Given the description of an element on the screen output the (x, y) to click on. 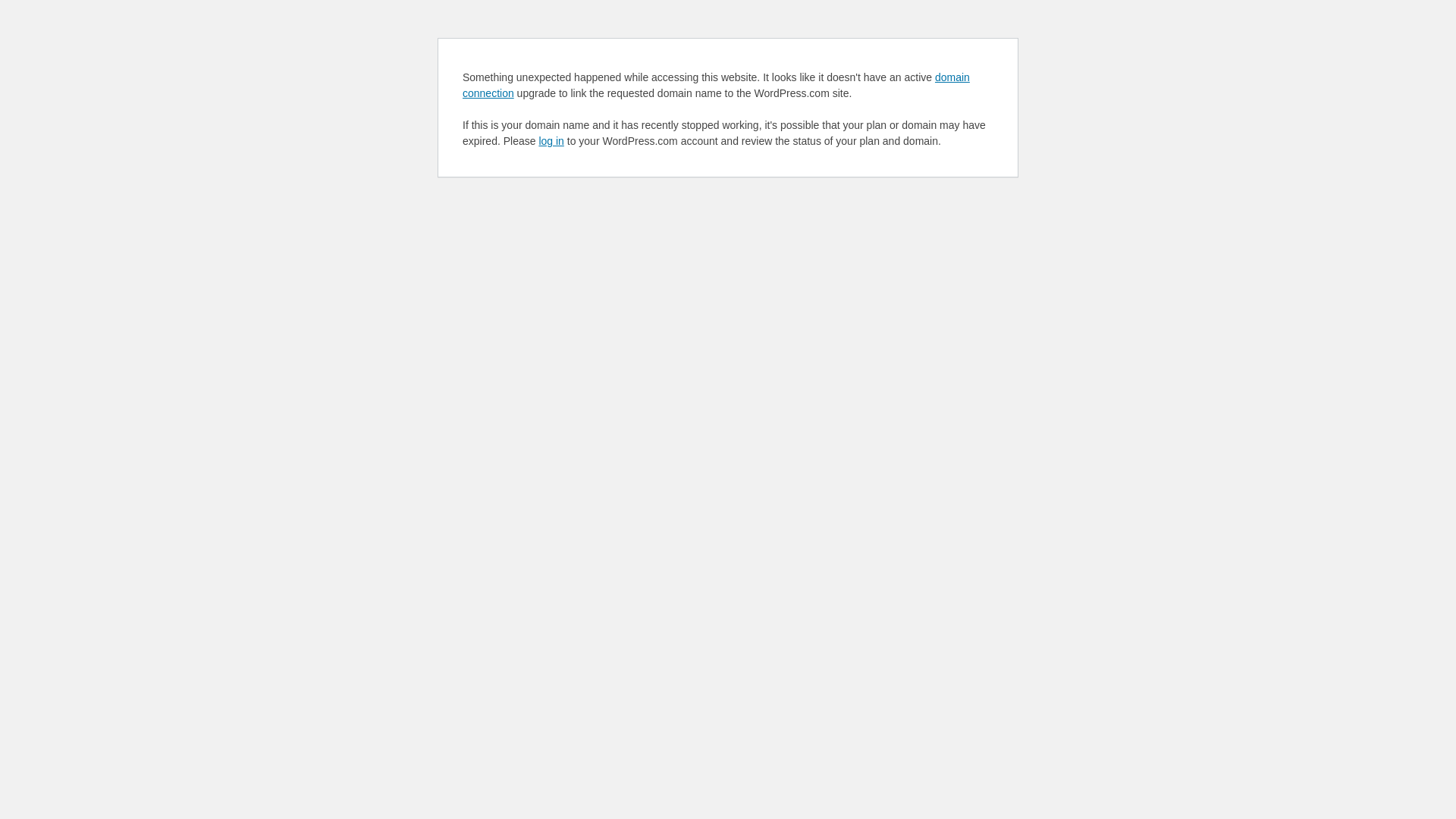
log in Element type: text (550, 140)
domain connection Element type: text (715, 85)
